Given the description of an element on the screen output the (x, y) to click on. 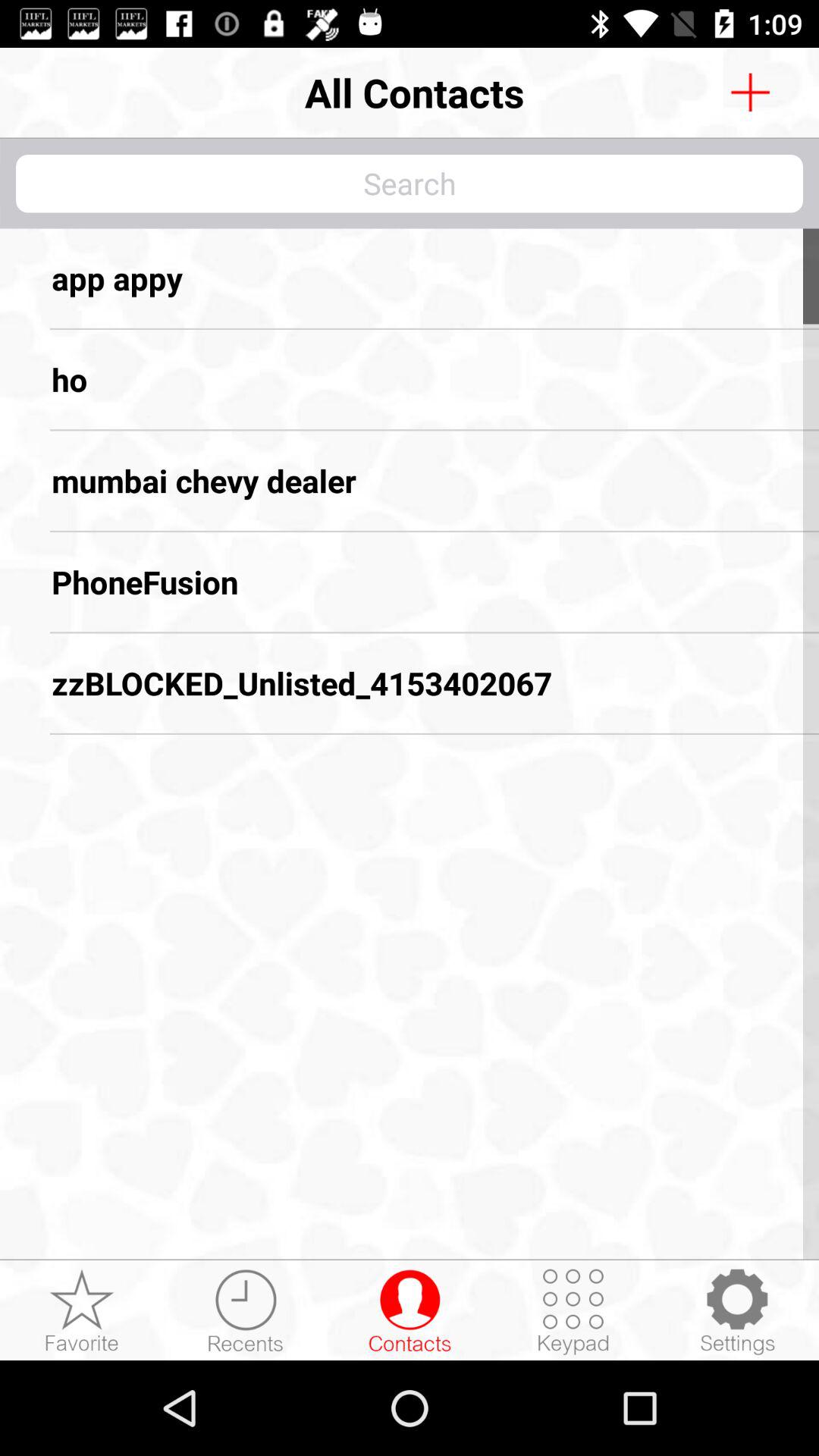
go to search option (750, 92)
